Given the description of an element on the screen output the (x, y) to click on. 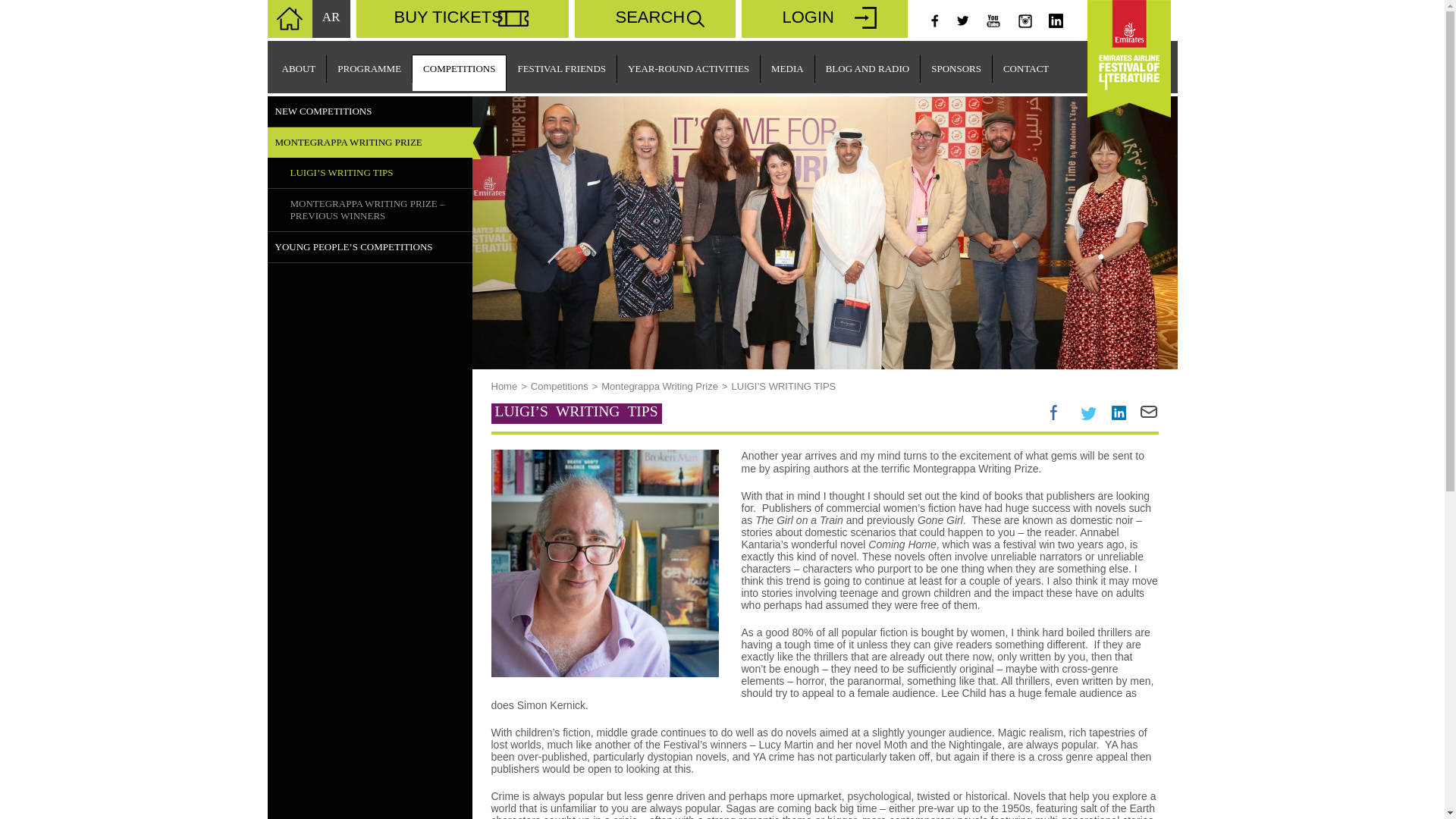
BUY TICKETS (462, 18)
SEARCH (655, 18)
twitter (962, 20)
Emirates Airline Festival of Literature. (331, 18)
Home (505, 386)
Emirates Airline Festival of Literature. (288, 18)
LOGIN (824, 18)
PROGRAMME (369, 68)
instagram (1024, 20)
youtube (992, 20)
